Given the description of an element on the screen output the (x, y) to click on. 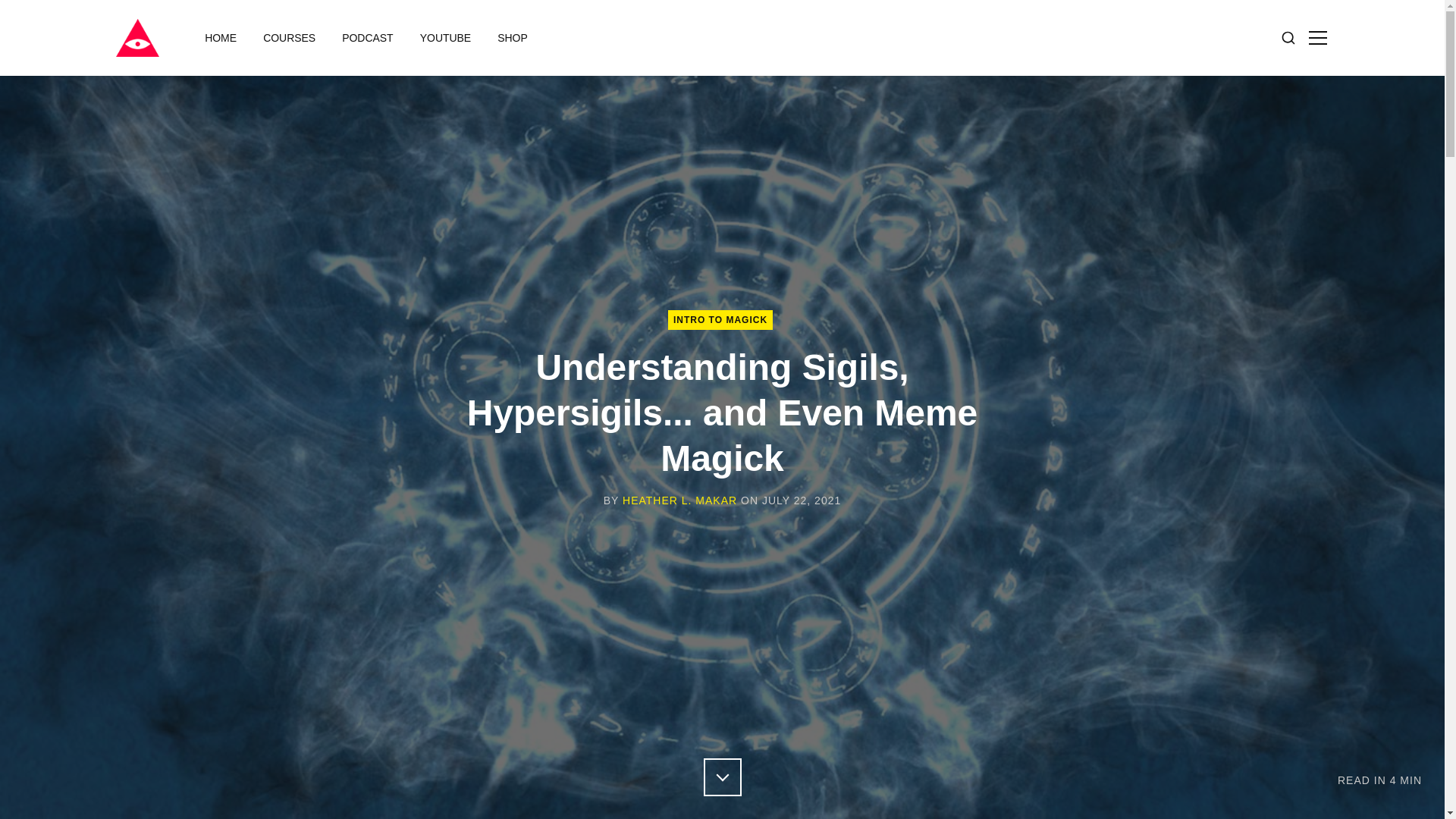
HOME (220, 38)
SHOW SIDEBAR (1316, 37)
PODCAST (367, 38)
YOUTUBE (445, 38)
SHOW SEARCH (1288, 37)
INTRO TO MAGICK (720, 320)
Scroll Down (722, 777)
SHOP (512, 38)
COURSES (288, 38)
HEATHER L. MAKAR (679, 500)
